Given the description of an element on the screen output the (x, y) to click on. 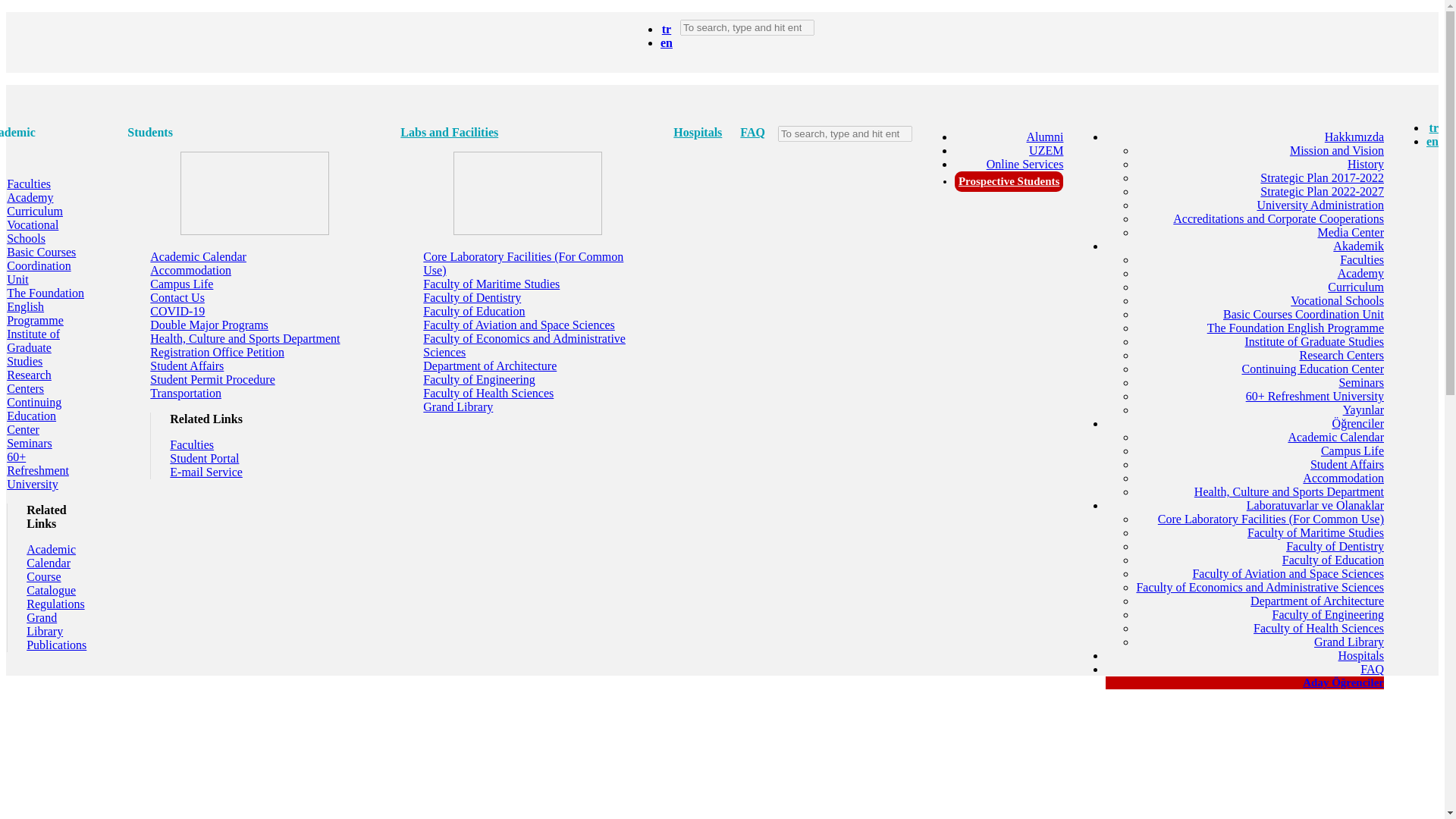
Student Affairs (1347, 463)
Vocational Schools (1337, 300)
Accommodation (1343, 477)
Curriculum (1355, 286)
Strategic Plan 2022-2027 (1322, 191)
History (1366, 164)
Mission and Vision (1337, 150)
Department of Architecture (1317, 600)
Faculty of Maritime Studies (1315, 532)
Health, Culture and Sports Department (1288, 491)
Basic Courses Coordination Unit (1303, 314)
Laboratuvarlar ve Olanaklar (1315, 504)
Academy (1361, 273)
Research Centers (1341, 354)
Academic Calendar (1335, 436)
